Given the description of an element on the screen output the (x, y) to click on. 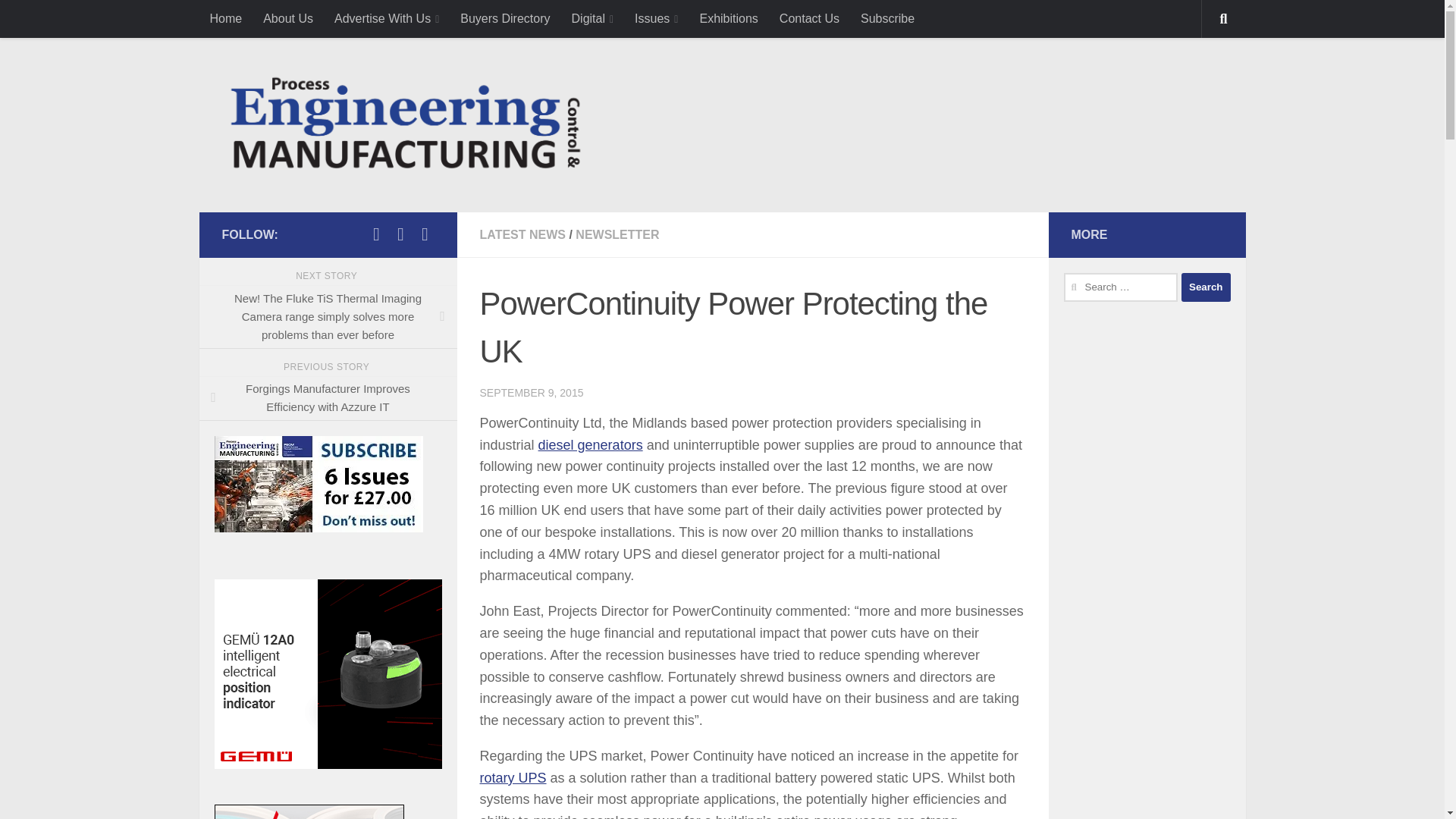
Follow us on Email (423, 234)
Issues (656, 18)
Search (1205, 287)
Search (1205, 287)
Skip to content (63, 20)
Home (224, 18)
Advertise With Us (386, 18)
Follow us on Phone (400, 234)
Buyers Directory (504, 18)
Follow us on Twitter (375, 234)
Digital (592, 18)
About Us (287, 18)
